Given the description of an element on the screen output the (x, y) to click on. 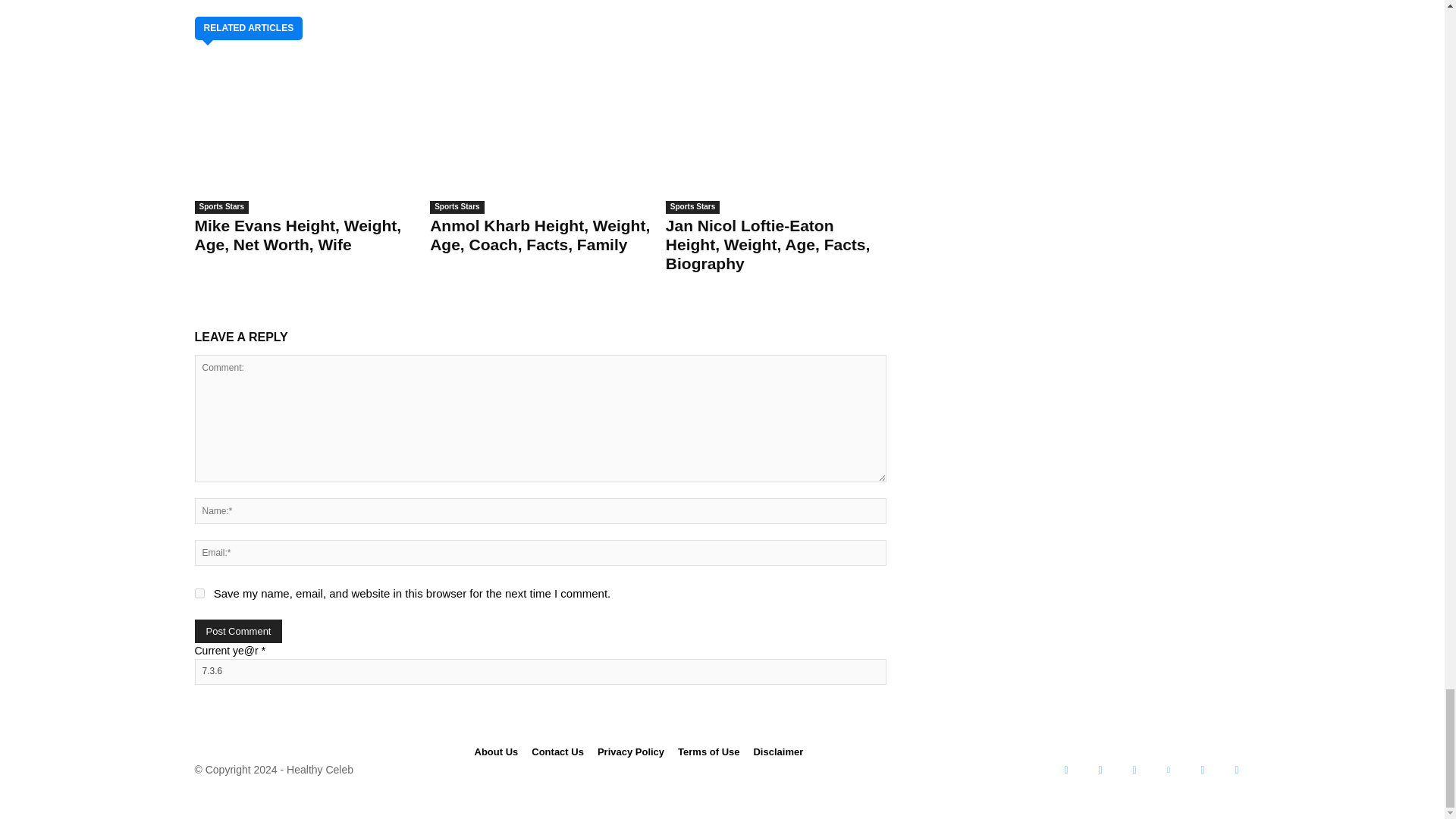
Post Comment (237, 630)
yes (198, 593)
7.3.6 (539, 671)
